Given the description of an element on the screen output the (x, y) to click on. 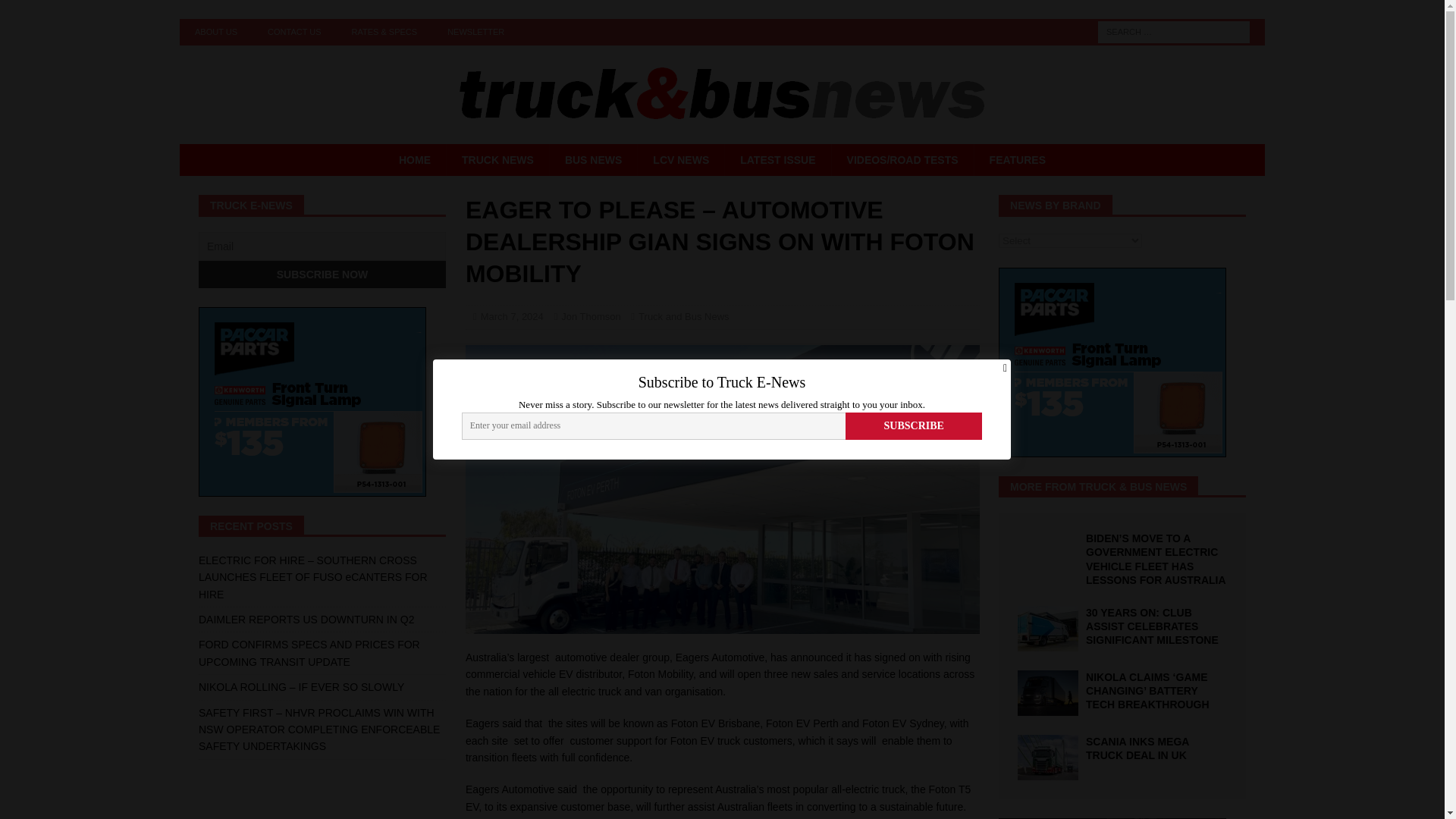
Subscribe Now (321, 274)
CONTACT US (293, 31)
Search (56, 11)
HOME (414, 160)
FEATURES (1017, 160)
March 7, 2024 (511, 316)
ABOUT US (215, 31)
SUBSCRIBE (913, 425)
NEWSLETTER (475, 31)
LATEST ISSUE (776, 160)
LCV NEWS (680, 160)
Truck and Bus News (684, 316)
BUS NEWS (592, 160)
TRUCK NEWS (496, 160)
